Given the description of an element on the screen output the (x, y) to click on. 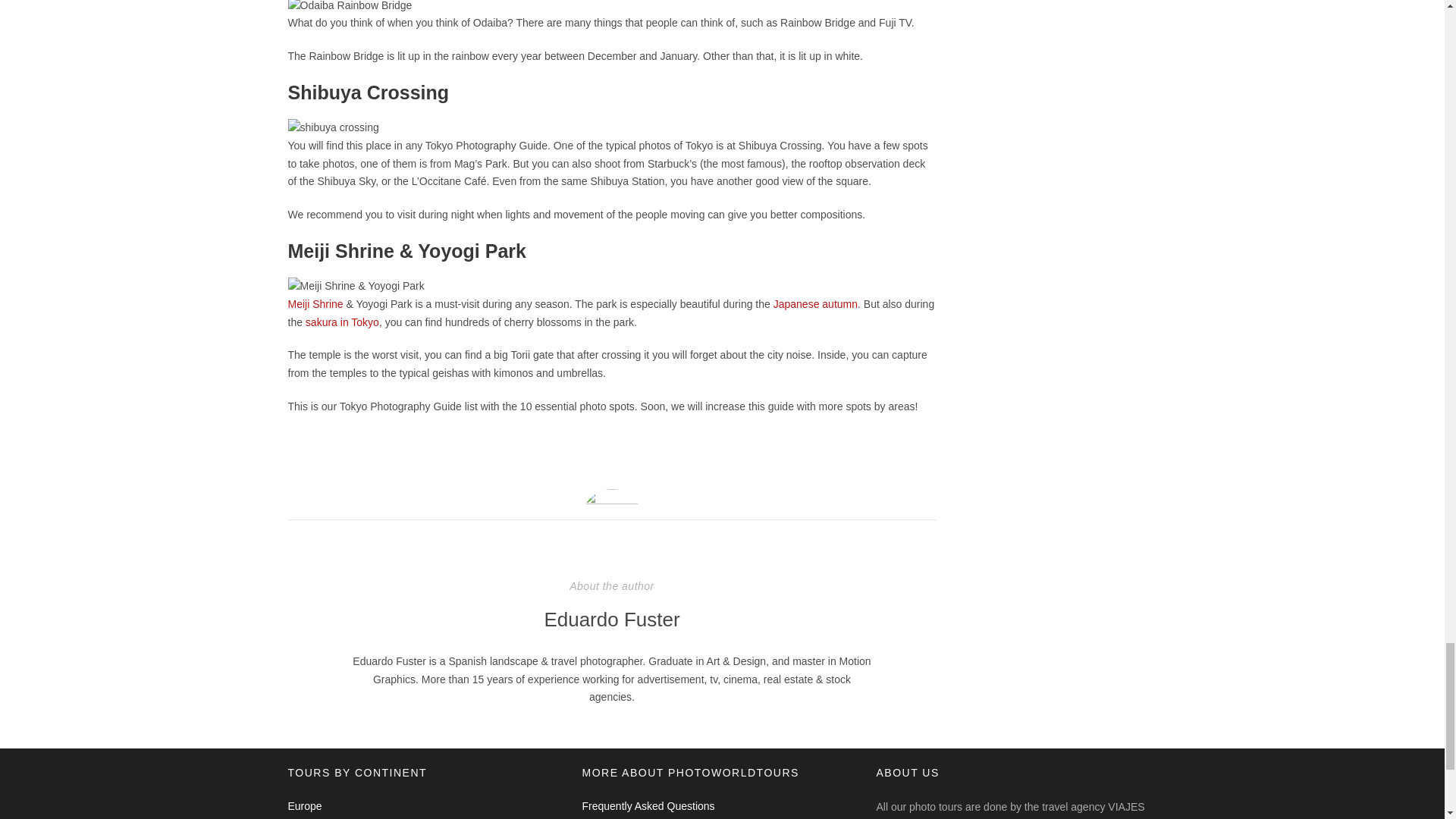
Eduardo Fuster (611, 619)
sakura in Tokyo (341, 322)
Japanese autumn (815, 304)
Meiji Shrine (315, 304)
